Given the description of an element on the screen output the (x, y) to click on. 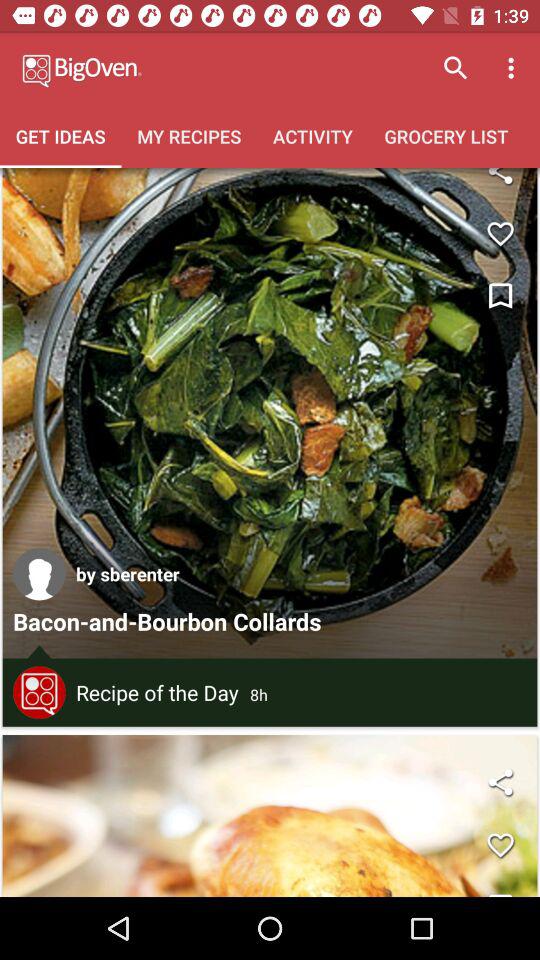
user profile picture icon (39, 573)
